Given the description of an element on the screen output the (x, y) to click on. 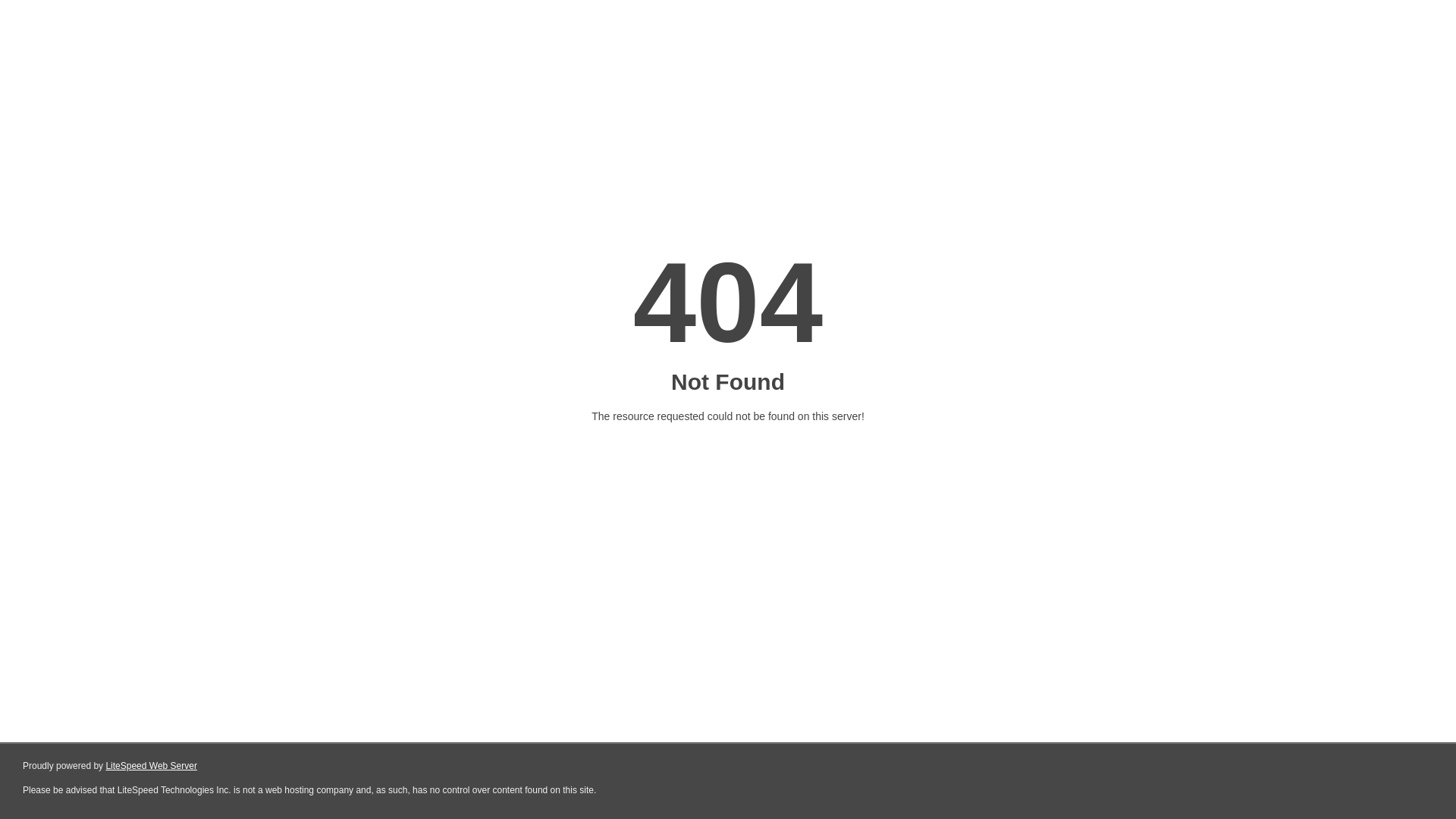
LiteSpeed Web Server Element type: text (151, 765)
